Given the description of an element on the screen output the (x, y) to click on. 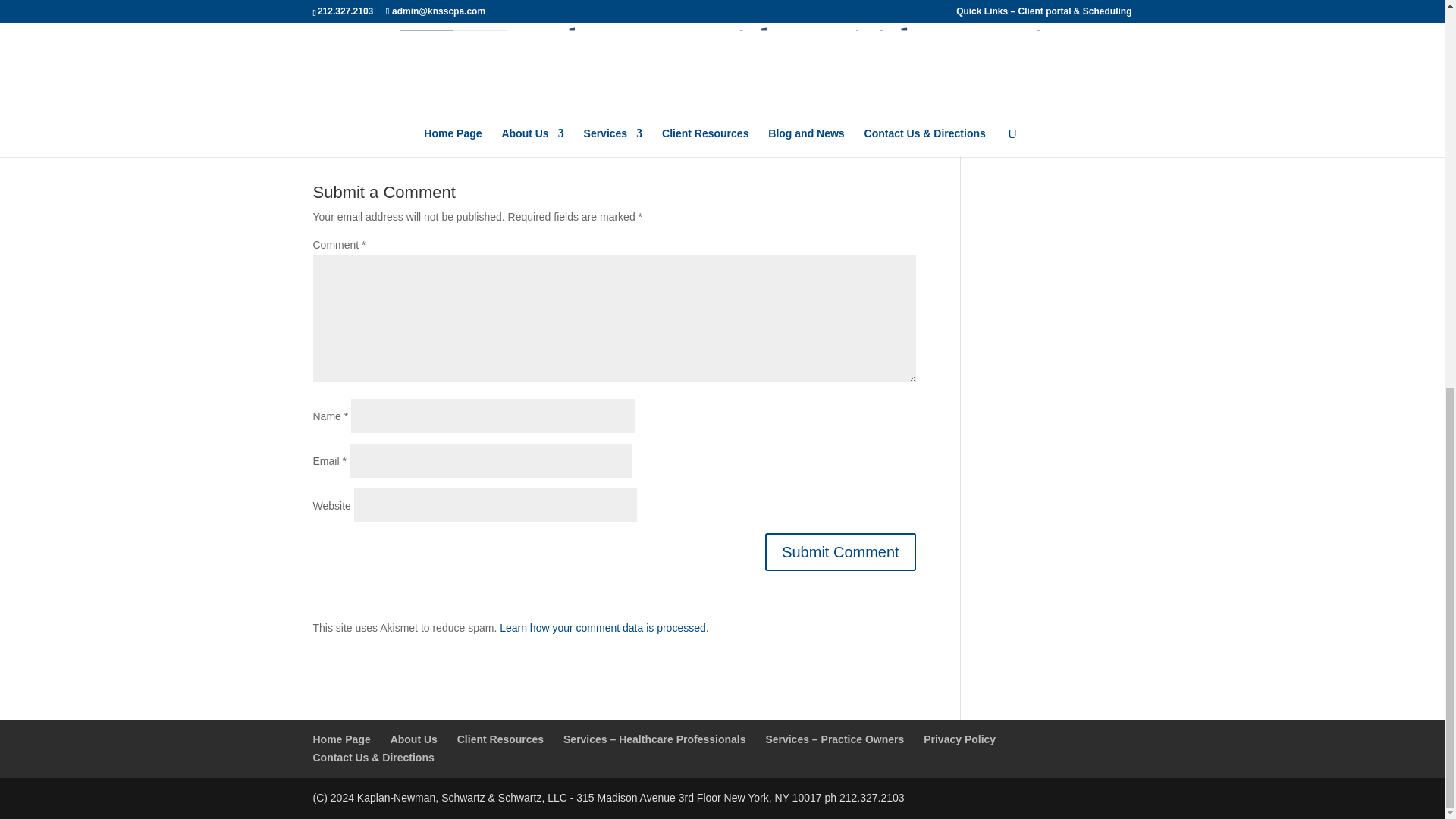
Alex Oliver (633, 86)
Learn how your comment data is processed (602, 627)
Privacy Policy (959, 739)
About Us (414, 739)
Submit Comment (840, 551)
Home Page (341, 739)
Submit Comment (840, 551)
Client Resources (500, 739)
